Given the description of an element on the screen output the (x, y) to click on. 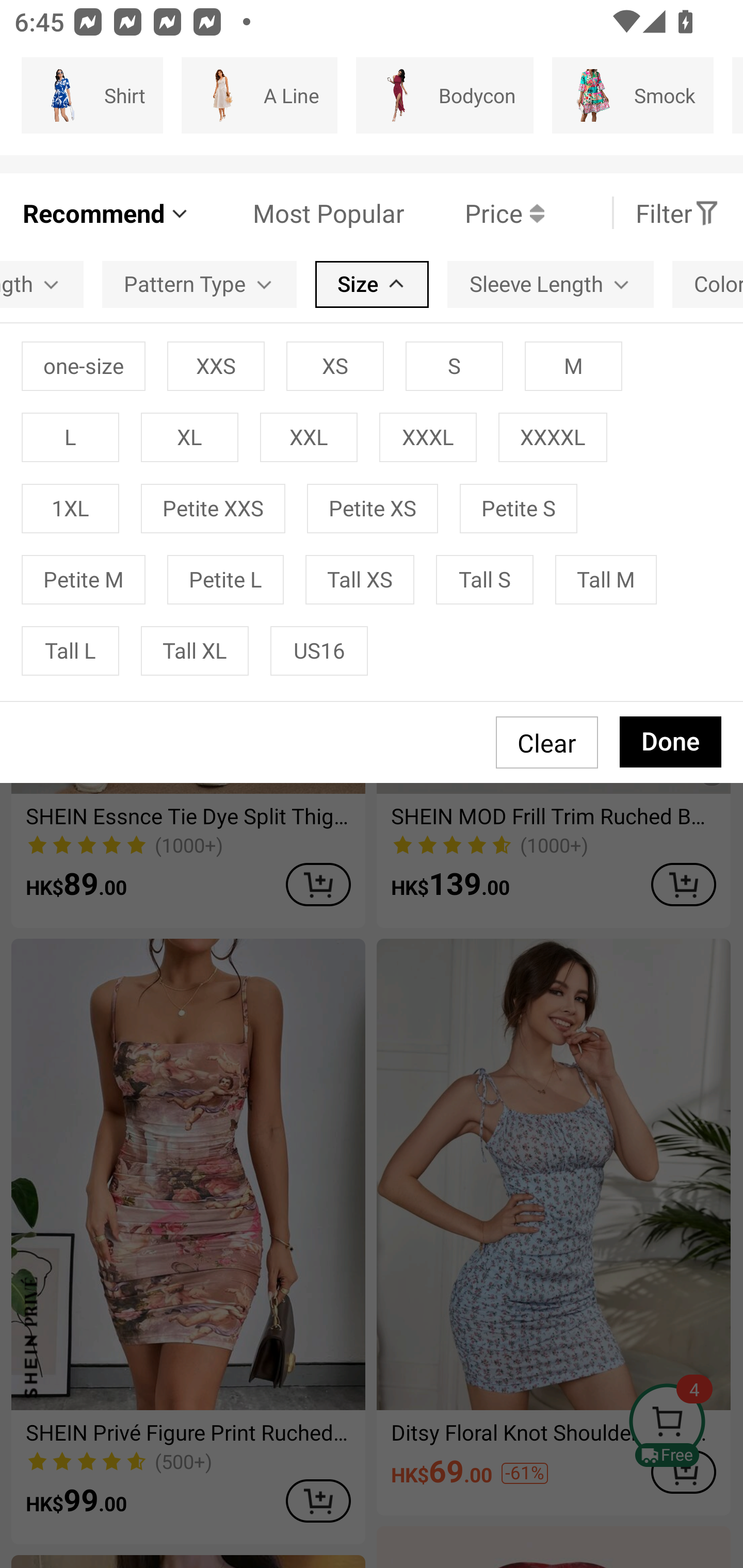
Shirt (91, 95)
A Line (259, 95)
Bodycon (444, 95)
Smock (632, 95)
Recommend (106, 213)
Most Popular (297, 213)
Price (474, 213)
Filter (677, 213)
Length (41, 283)
Pattern Type (199, 283)
Size (371, 283)
Sleeve Length (550, 283)
Color (707, 283)
